Given the description of an element on the screen output the (x, y) to click on. 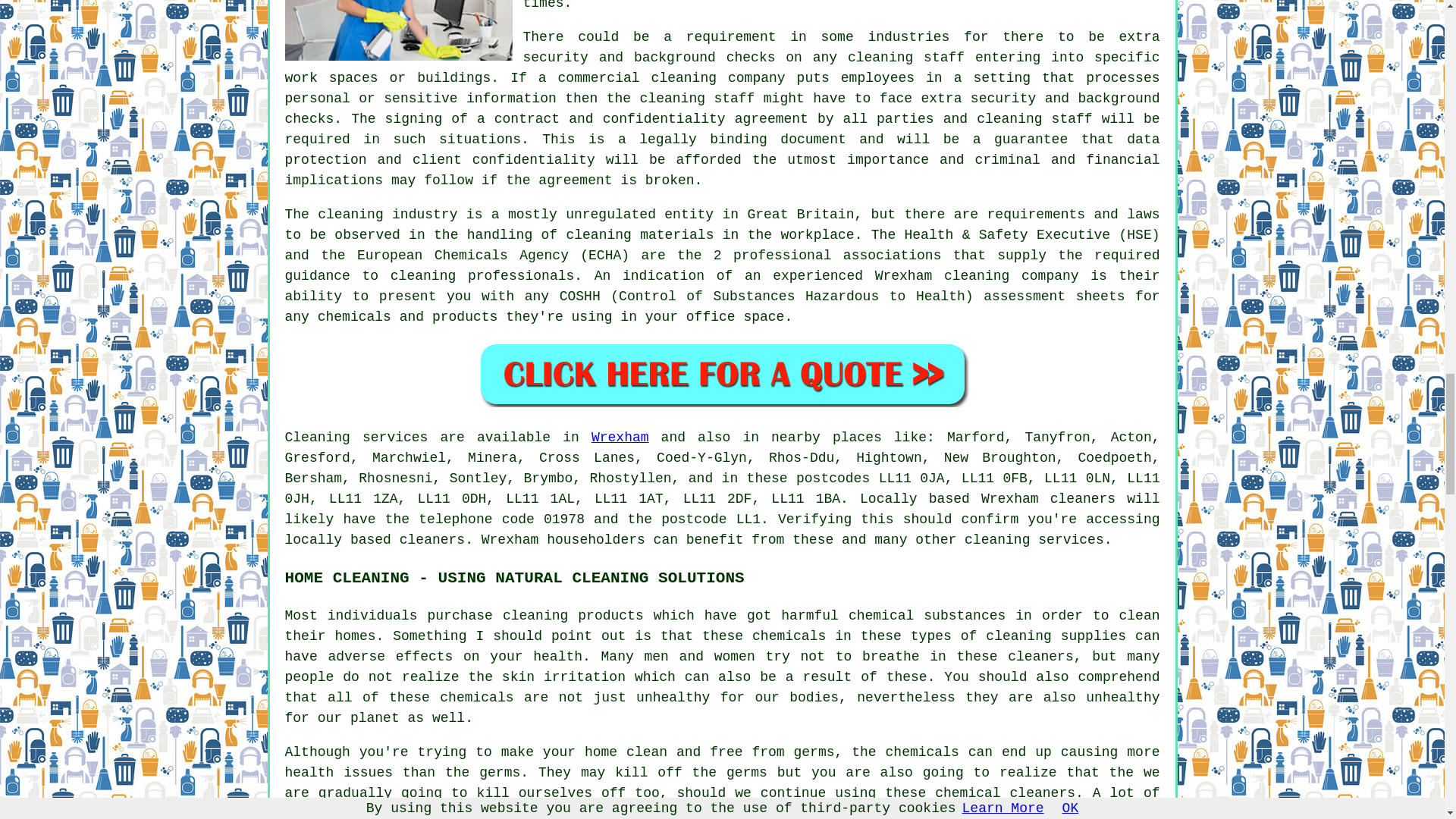
Contact Local Cleaners Wrexham (722, 374)
cleaners (431, 539)
